Given the description of an element on the screen output the (x, y) to click on. 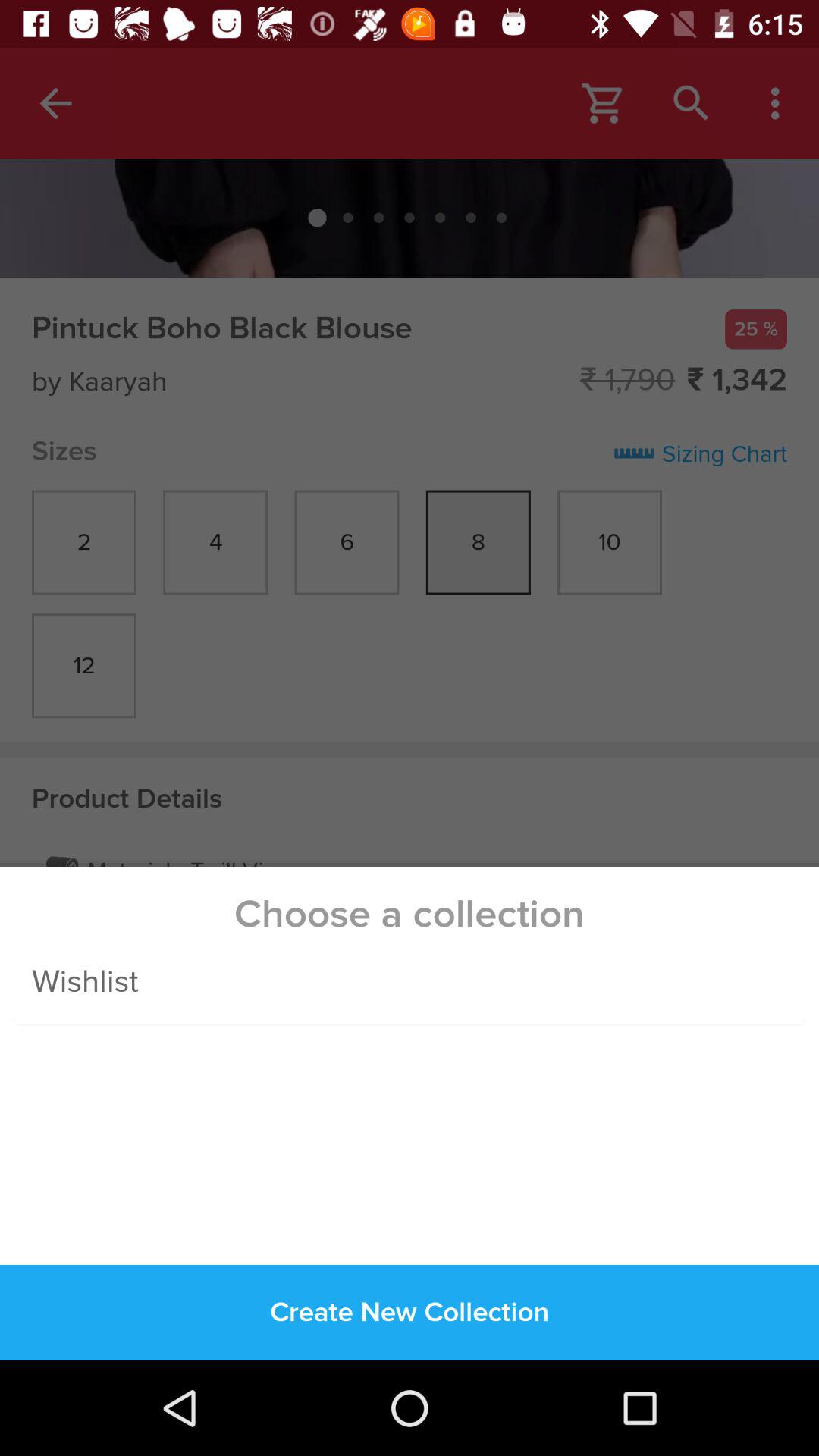
tap create new collection item (409, 1312)
